Given the description of an element on the screen output the (x, y) to click on. 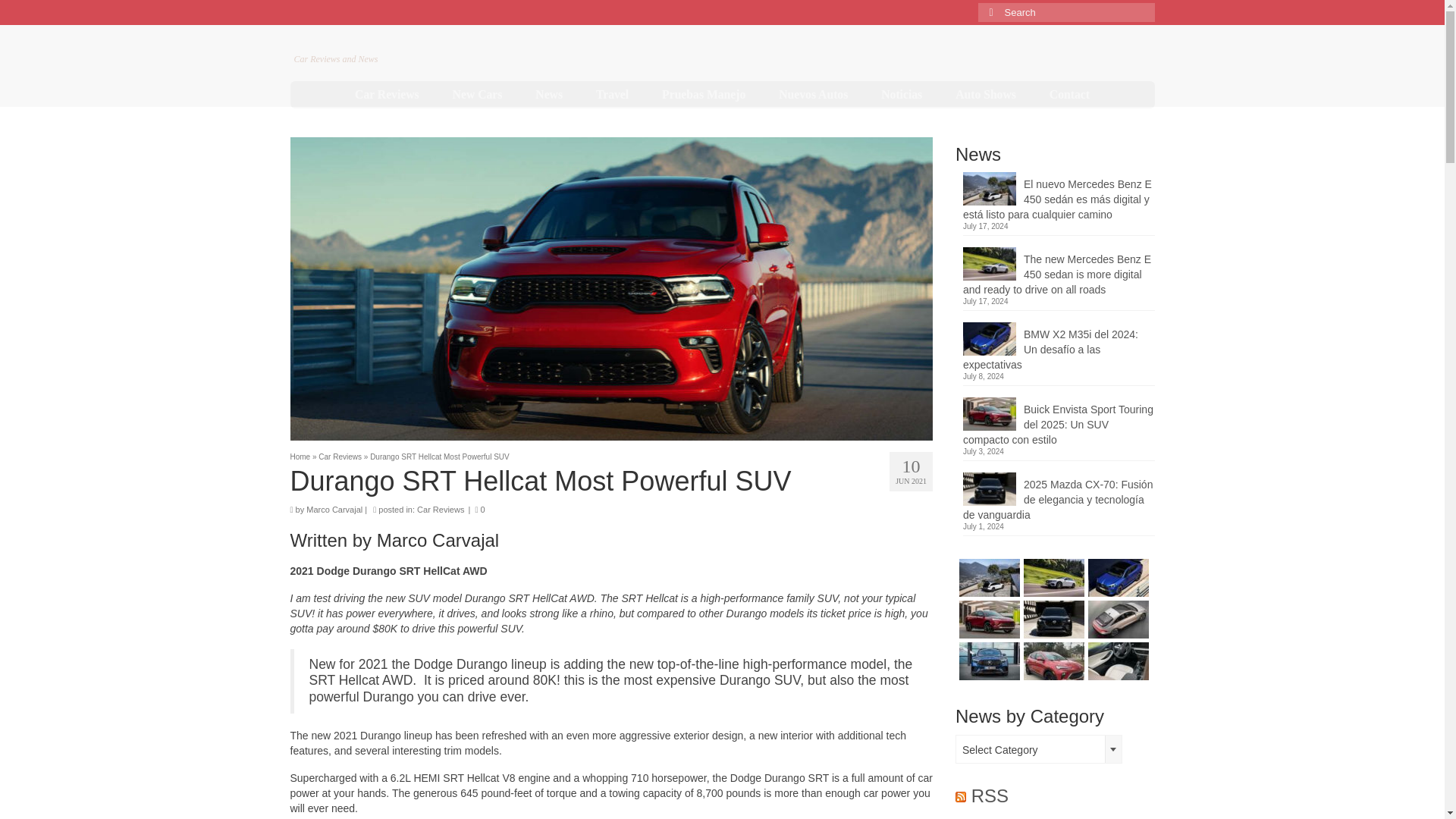
Nuevos Autos (812, 94)
AutomotorFlorida.com (398, 42)
Pruebas Manejo (703, 94)
News (548, 94)
Noticias (901, 94)
New Cars (478, 94)
Contact (1069, 94)
Travel (611, 94)
Auto Shows (985, 94)
AutomotorFlorida.com (398, 42)
Car Reviews (386, 94)
